Given the description of an element on the screen output the (x, y) to click on. 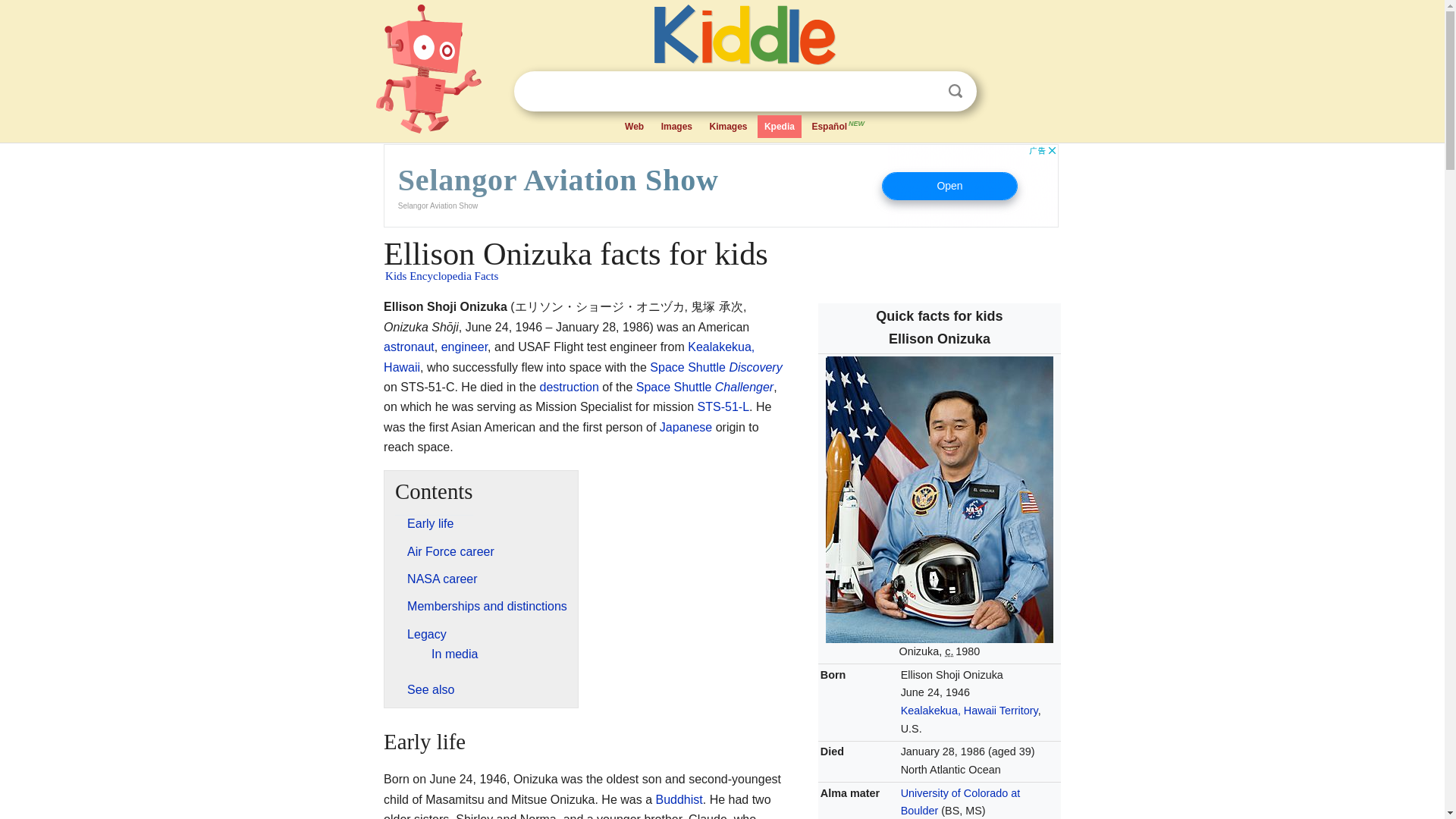
STS-51-L (723, 406)
Space Shuttle Discovery (715, 367)
Space Shuttle Challenger disaster (569, 386)
Memberships and distinctions (487, 605)
Kids Encyclopedia Facts (441, 275)
destruction (569, 386)
Legacy (426, 634)
Japan (685, 427)
NASA career (442, 578)
In media (453, 653)
